Given the description of an element on the screen output the (x, y) to click on. 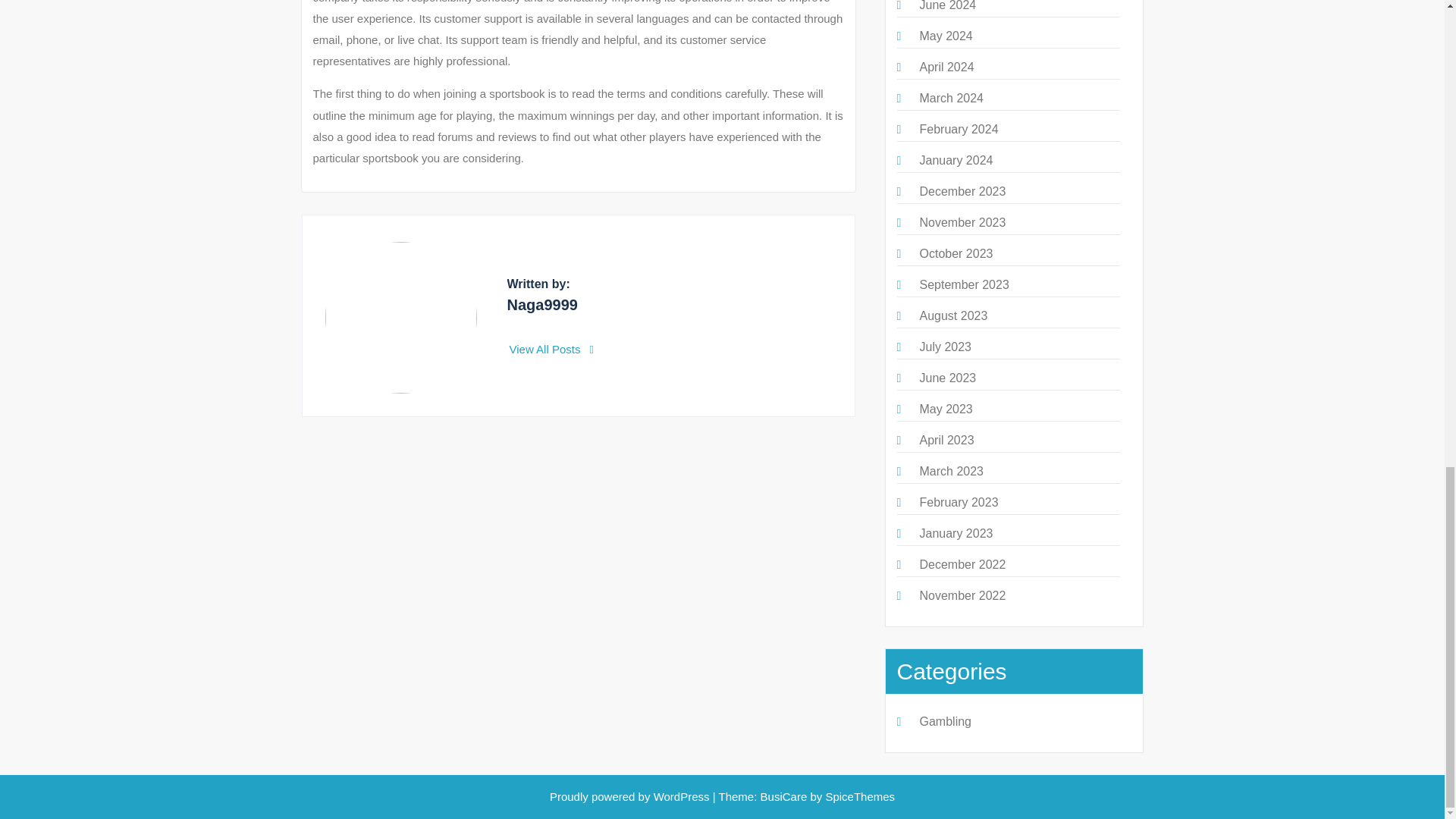
June 2023 (946, 377)
February 2024 (957, 128)
View All Posts (551, 349)
April 2024 (946, 66)
May 2024 (945, 35)
October 2023 (955, 253)
August 2023 (952, 315)
July 2023 (944, 346)
May 2023 (945, 408)
April 2023 (946, 440)
March 2024 (951, 97)
September 2023 (963, 284)
June 2024 (946, 5)
January 2023 (955, 533)
March 2023 (951, 471)
